Given the description of an element on the screen output the (x, y) to click on. 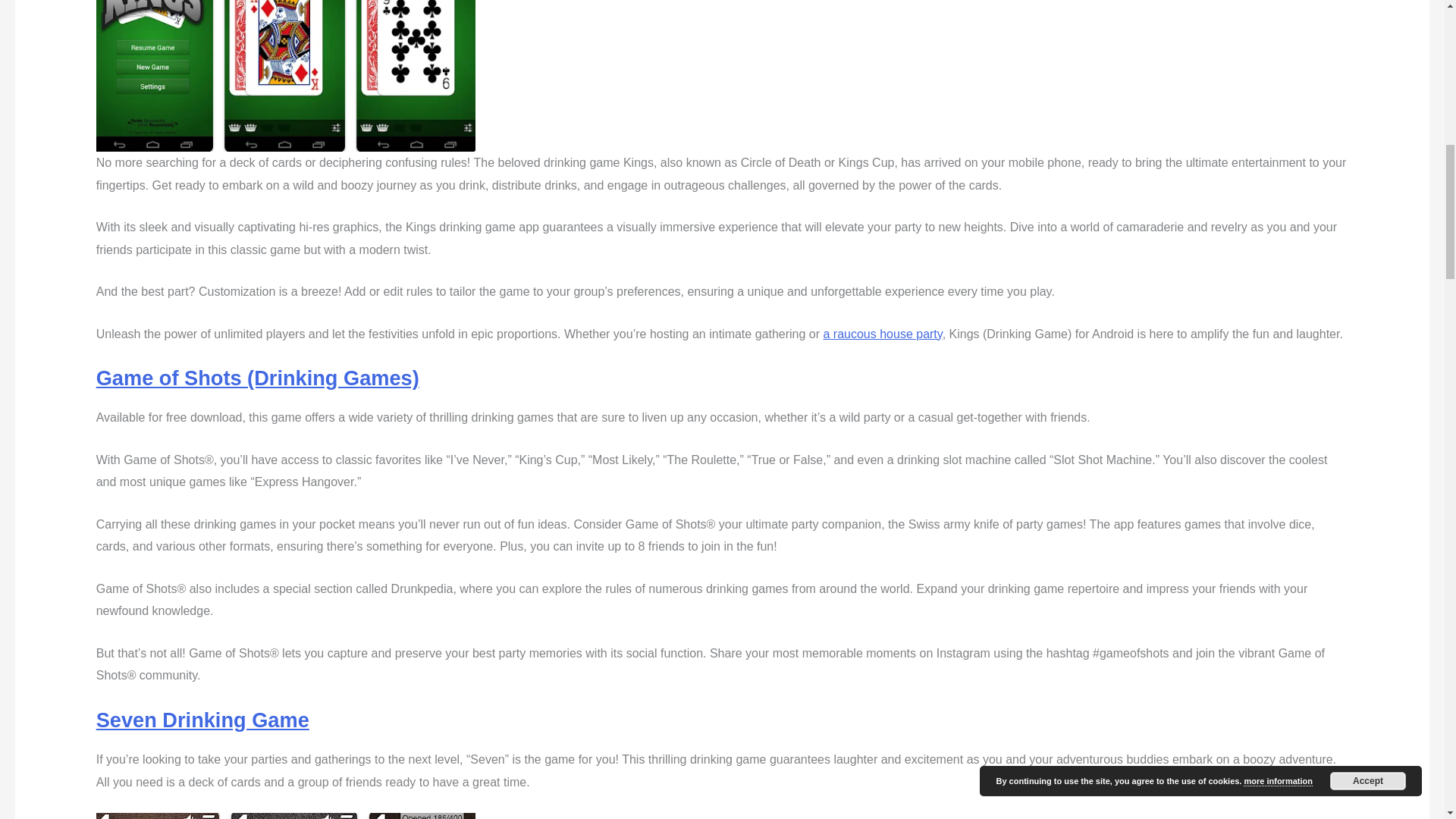
Seven Drinking Game (202, 720)
a raucous house party (882, 333)
